Given the description of an element on the screen output the (x, y) to click on. 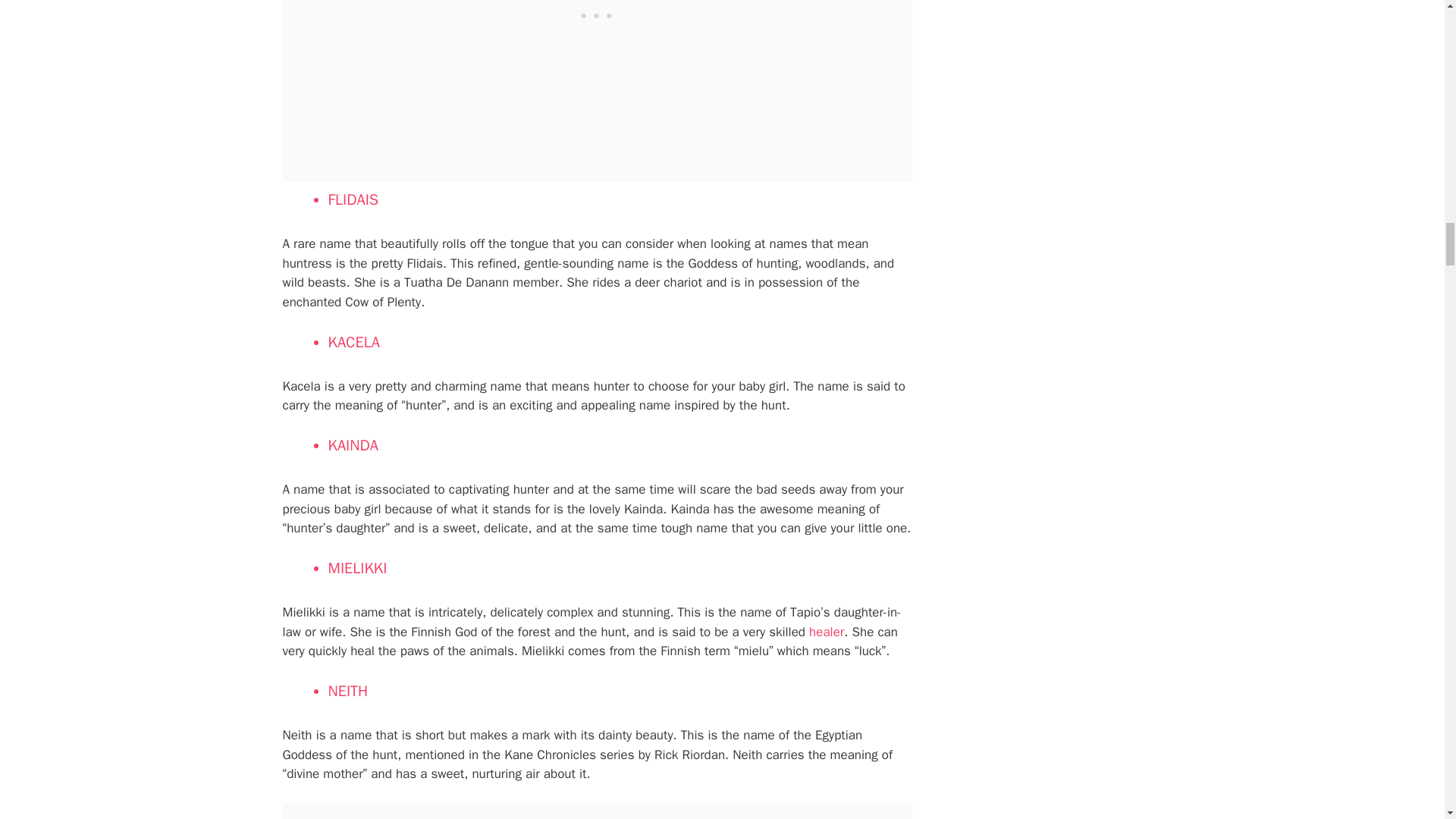
healer (826, 631)
